Given the description of an element on the screen output the (x, y) to click on. 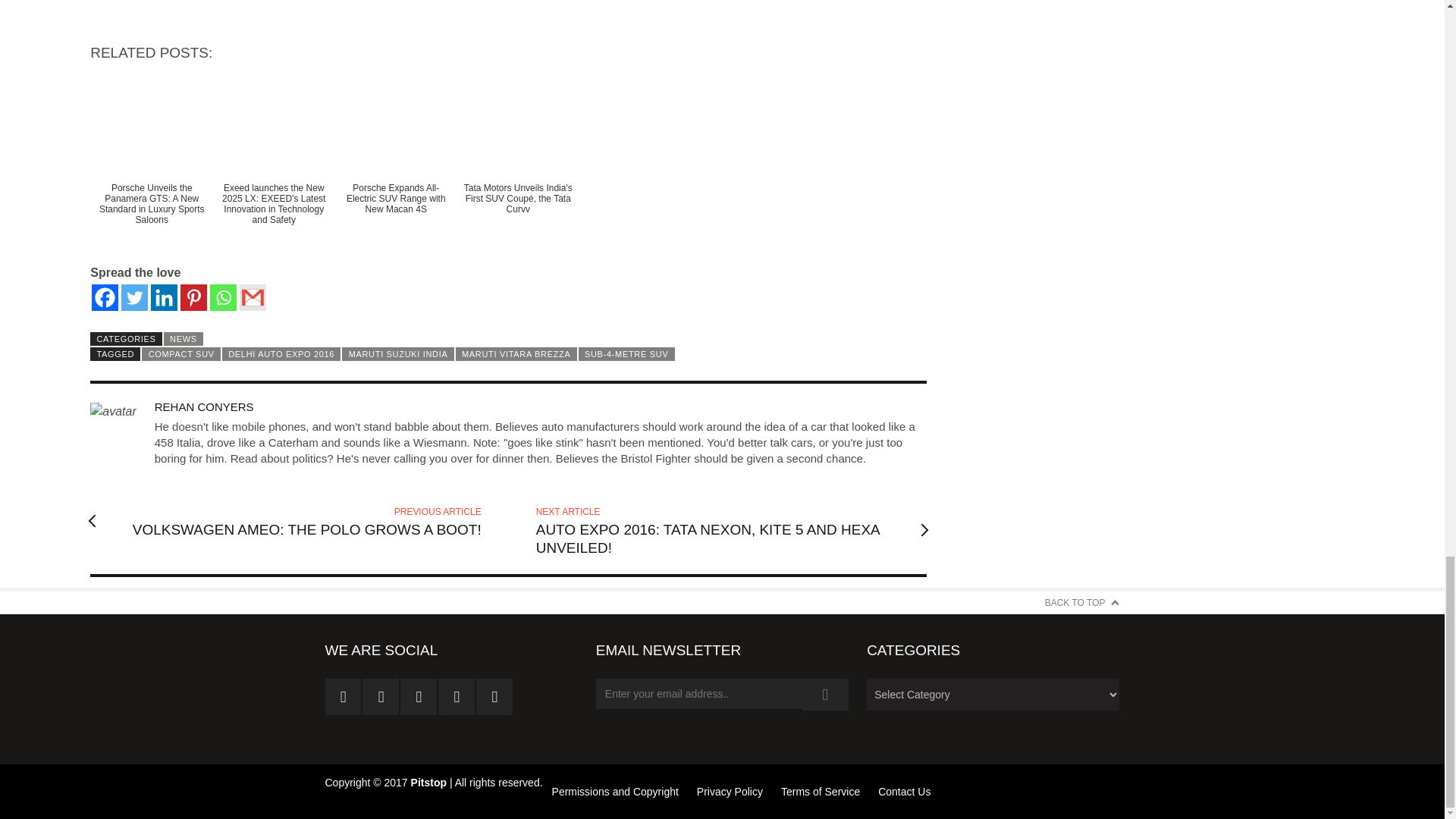
Whatsapp (222, 297)
View all posts tagged Compact SUV (181, 354)
Linkedin (164, 297)
View all posts tagged Delhi Auto Expo 2016 (281, 354)
Pinterest (193, 297)
View all posts tagged Maruti Suzuki India (397, 354)
View all posts in News (183, 338)
Twitter (134, 297)
Google Gmail (253, 297)
Facebook (104, 297)
